Given the description of an element on the screen output the (x, y) to click on. 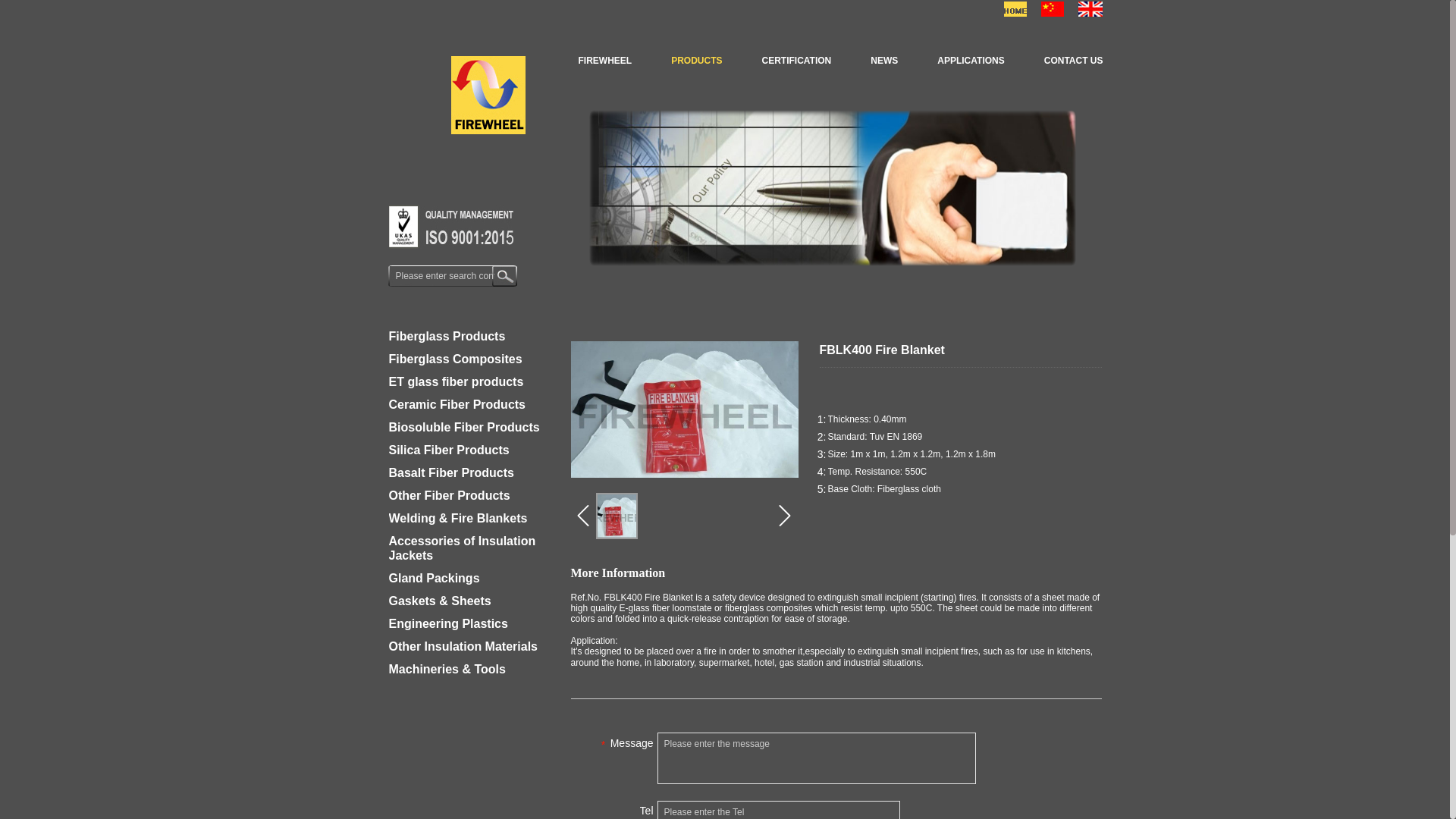
lan (1090, 8)
CERTIFICATION (795, 60)
iso9001 (450, 226)
banner (831, 188)
LOGO (486, 95)
lan (1052, 8)
PRODUCTS (695, 60)
lan (1015, 8)
FIREWHEEL (603, 60)
NEWS (883, 60)
